Given the description of an element on the screen output the (x, y) to click on. 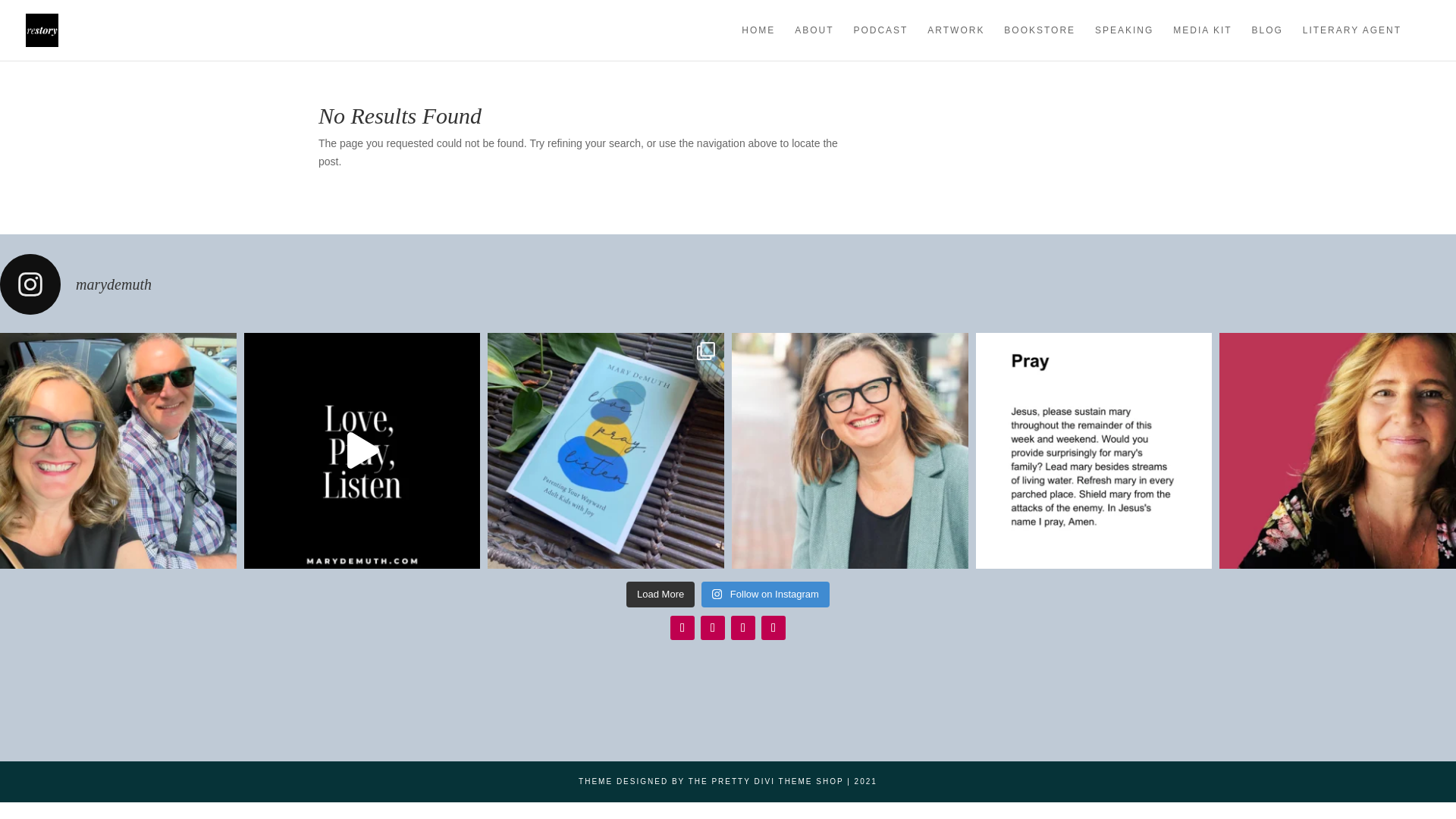
HOME (757, 42)
Load More (660, 594)
Follow on Instagram (681, 627)
Follow on Facebook (742, 627)
SPEAKING (1123, 42)
Follow on Youtube (773, 627)
LITERARY AGENT (1351, 42)
ABOUT (813, 42)
THE PRETTY DIVI THEME SHOP (766, 781)
ARTWORK (955, 42)
